Given the description of an element on the screen output the (x, y) to click on. 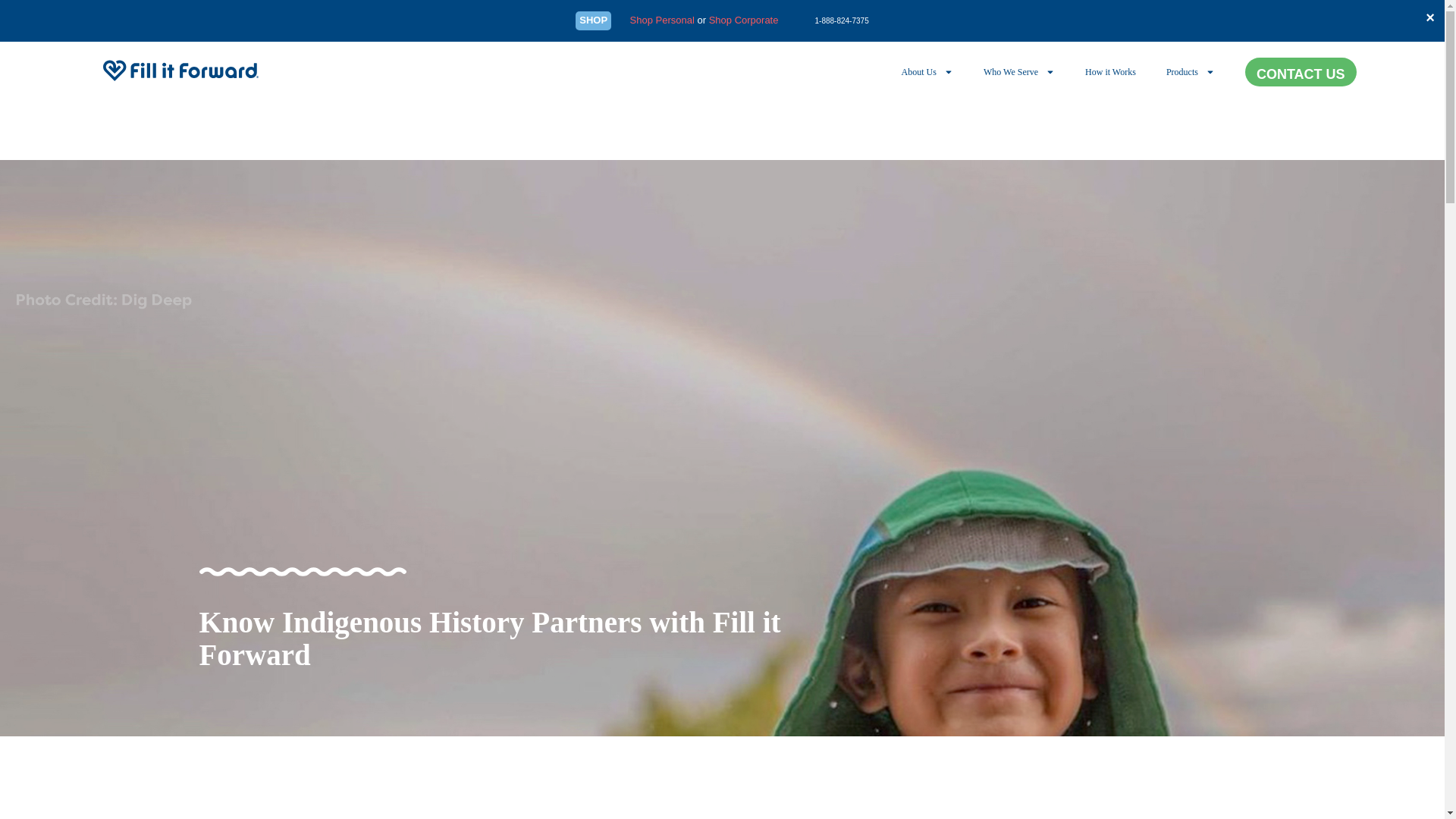
Shop Personal (662, 19)
Fill it Forward (181, 72)
Who We Serve (1019, 71)
How it Works (1110, 71)
Fill it Forward (181, 70)
Products (1190, 71)
About Us (927, 71)
Shop Corporate (743, 19)
